Given the description of an element on the screen output the (x, y) to click on. 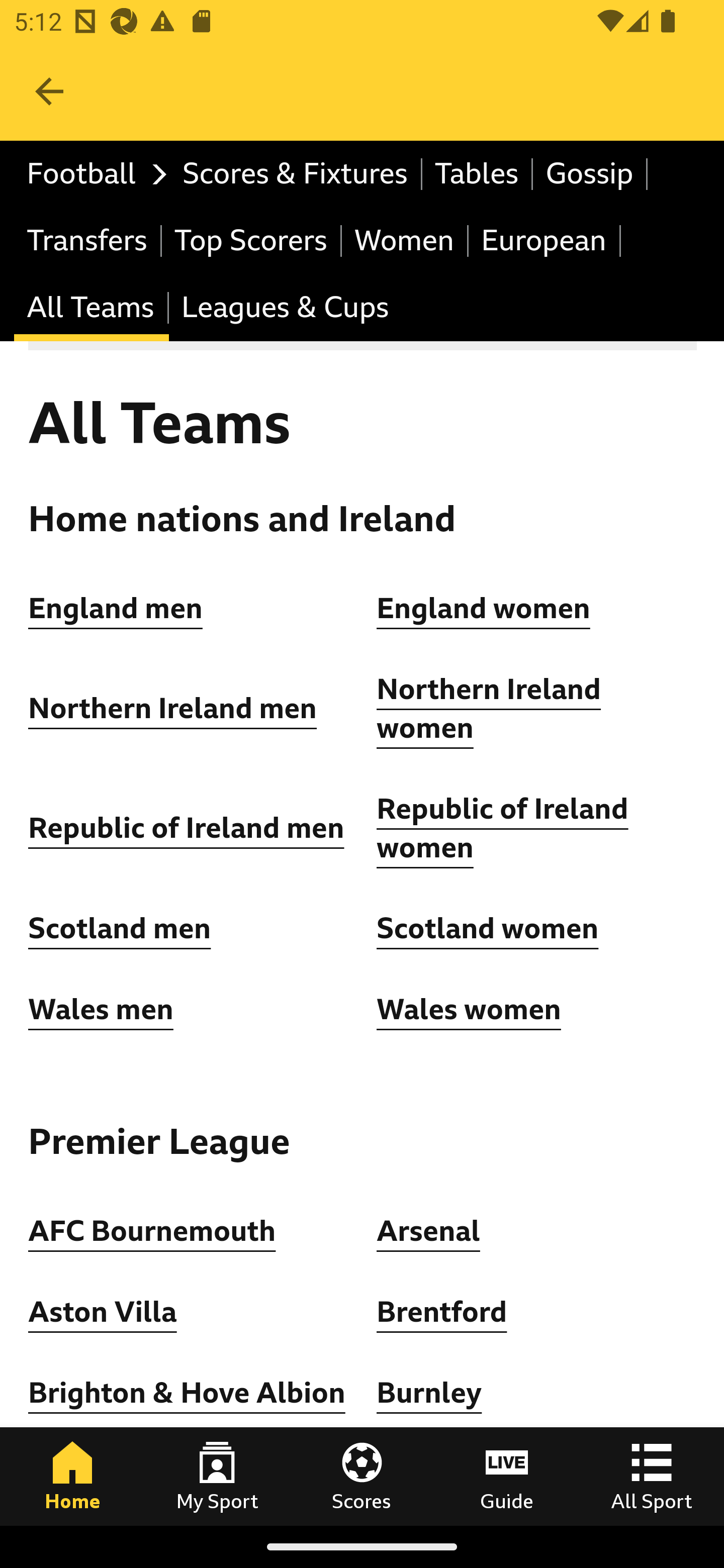
Navigate up (49, 91)
Football (91, 173)
Scores & Fixtures (295, 173)
Tables (477, 173)
Gossip (590, 173)
Transfers (88, 240)
Top Scorers (251, 240)
Women (405, 240)
European (544, 240)
All Teams (91, 308)
Leagues & Cups (284, 308)
England men (116, 608)
England women (483, 608)
Northern Ireland women (488, 709)
Northern Ireland men (173, 708)
Republic of Ireland women (502, 828)
Republic of Ireland men (186, 827)
Scotland men (120, 929)
Scotland women (487, 929)
Wales men (100, 1009)
Wales women (468, 1009)
AFC Bournemouth (151, 1230)
Arsenal (428, 1230)
Aston Villa (102, 1312)
Brentford (442, 1312)
Brighton & Hove Albion (187, 1393)
Burnley (429, 1393)
My Sport (216, 1475)
Scores (361, 1475)
Guide (506, 1475)
All Sport (651, 1475)
